Given the description of an element on the screen output the (x, y) to click on. 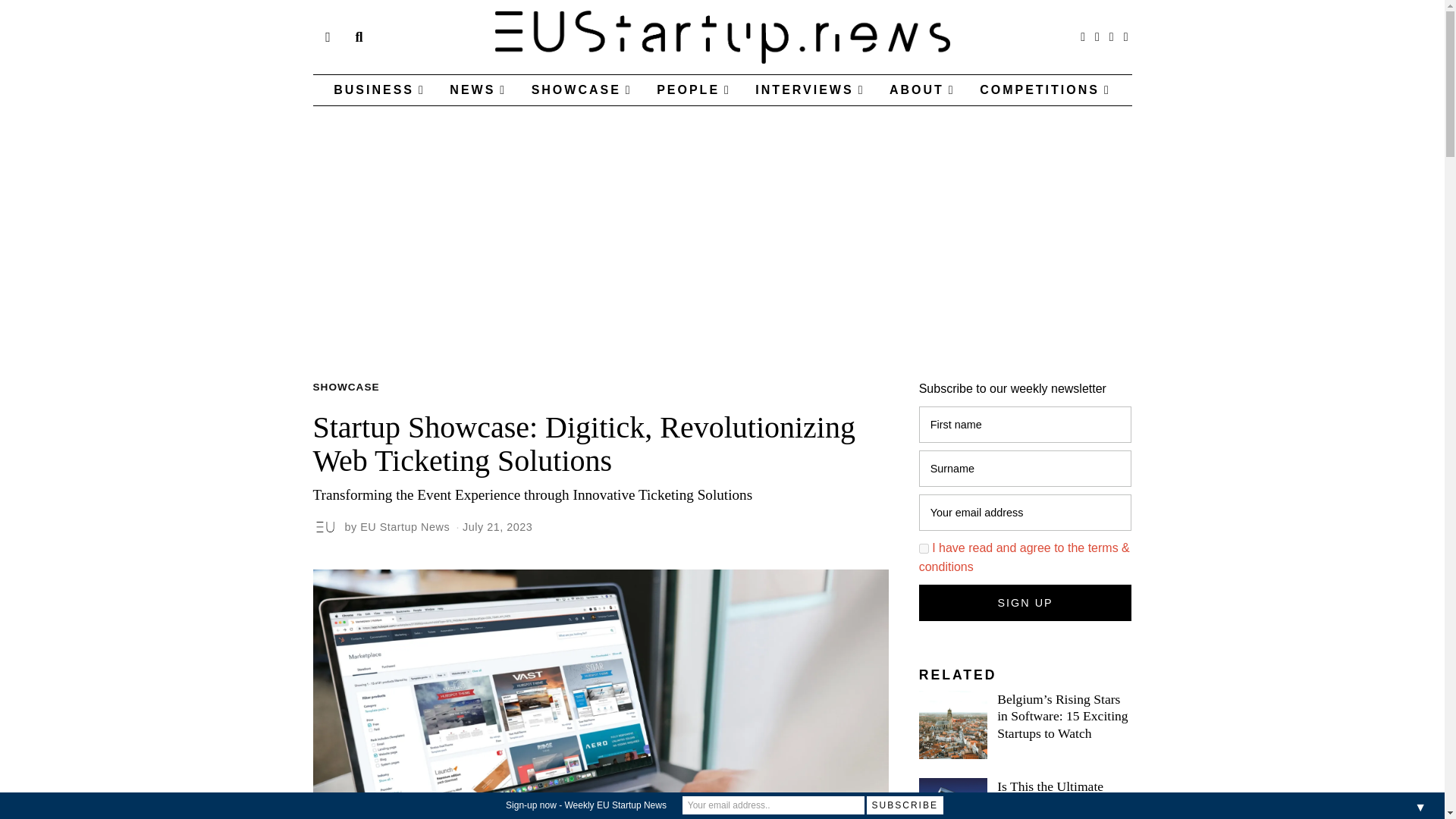
Subscribe (904, 805)
COMPETITIONS (1045, 90)
PEOPLE (693, 90)
ABOUT (922, 90)
SHOWCASE (582, 90)
1 (923, 548)
NEWS (477, 90)
Sign up (1025, 602)
SHOWCASE (345, 387)
INTERVIEWS (809, 90)
EU Startup News (404, 526)
BUSINESS (379, 90)
